Given the description of an element on the screen output the (x, y) to click on. 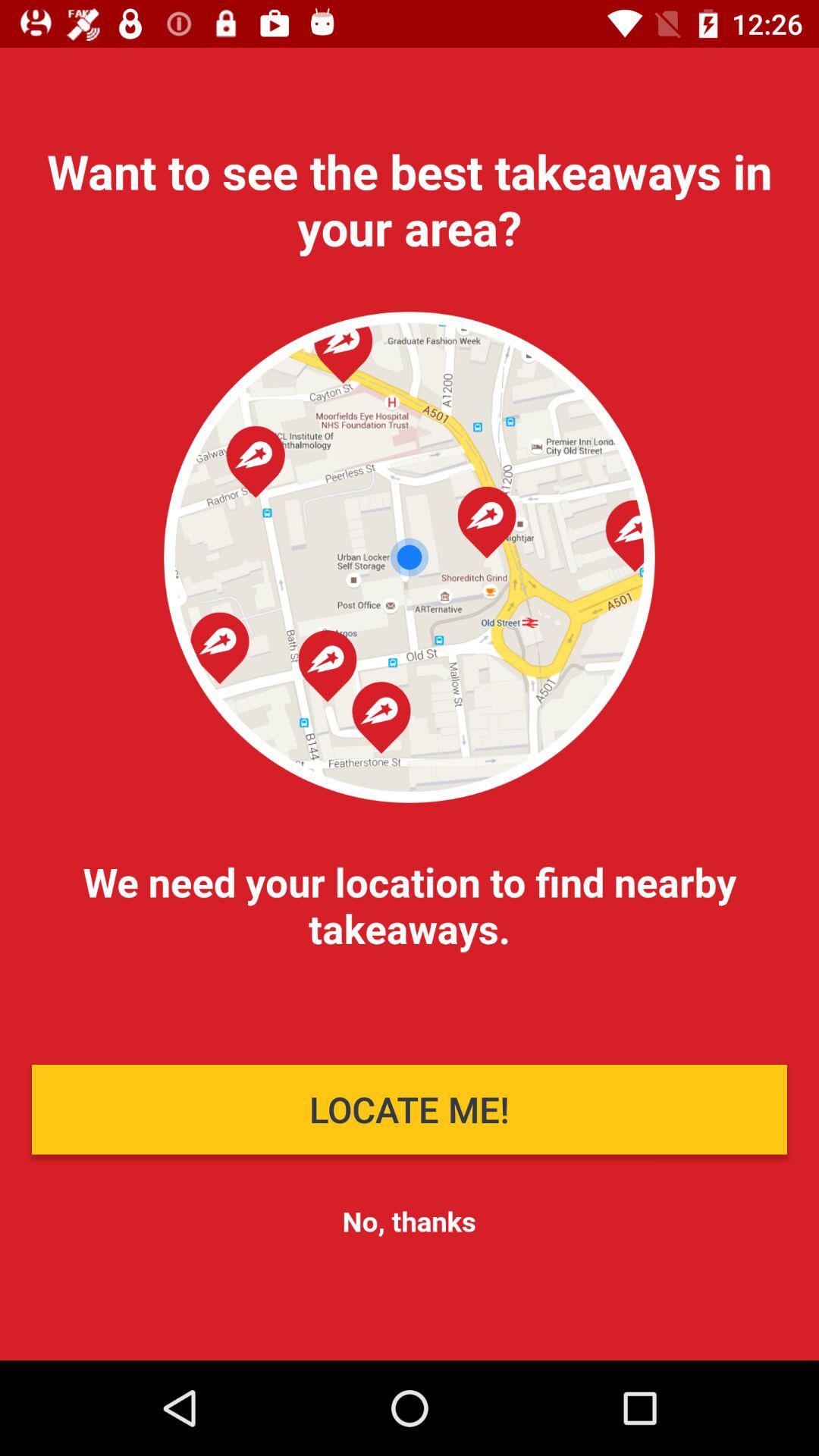
press the icon above no, thanks icon (409, 1109)
